Given the description of an element on the screen output the (x, y) to click on. 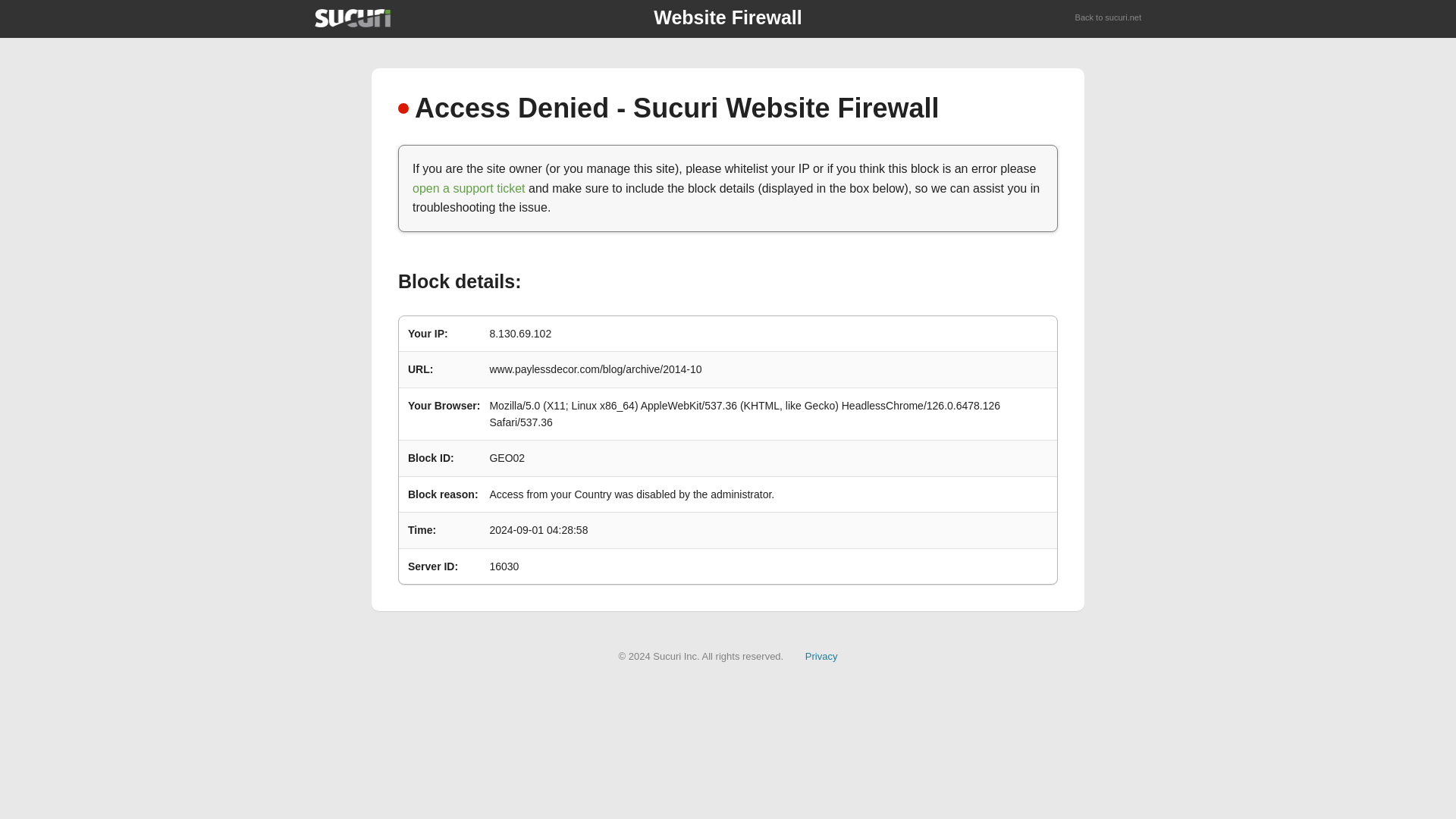
open a support ticket (468, 187)
Privacy (821, 655)
Back to sucuri.net (1108, 18)
